Given the description of an element on the screen output the (x, y) to click on. 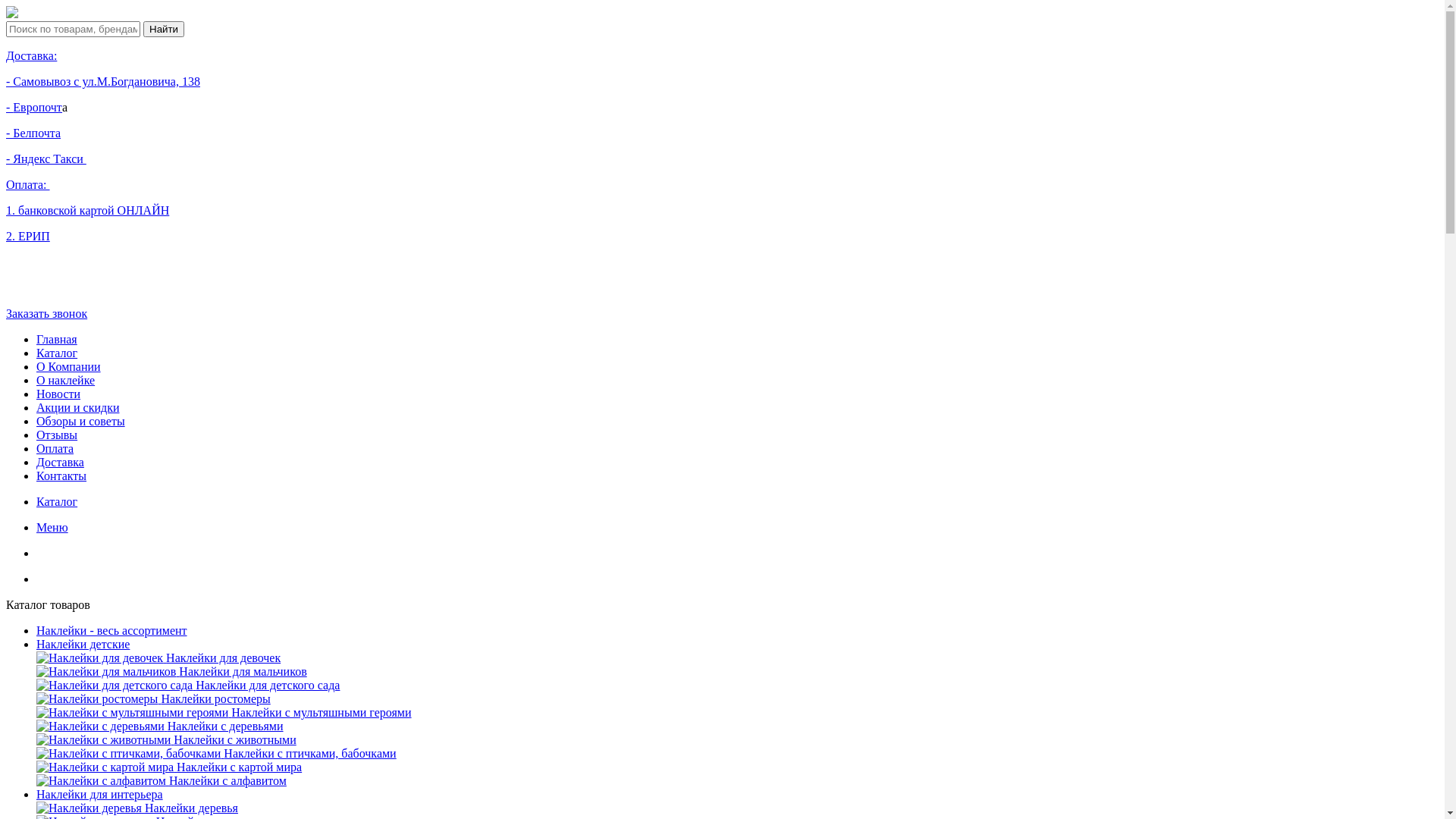
2.  Element type: text (12, 235)
-  Element type: text (9, 106)
1.  Element type: text (12, 209)
